Given the description of an element on the screen output the (x, y) to click on. 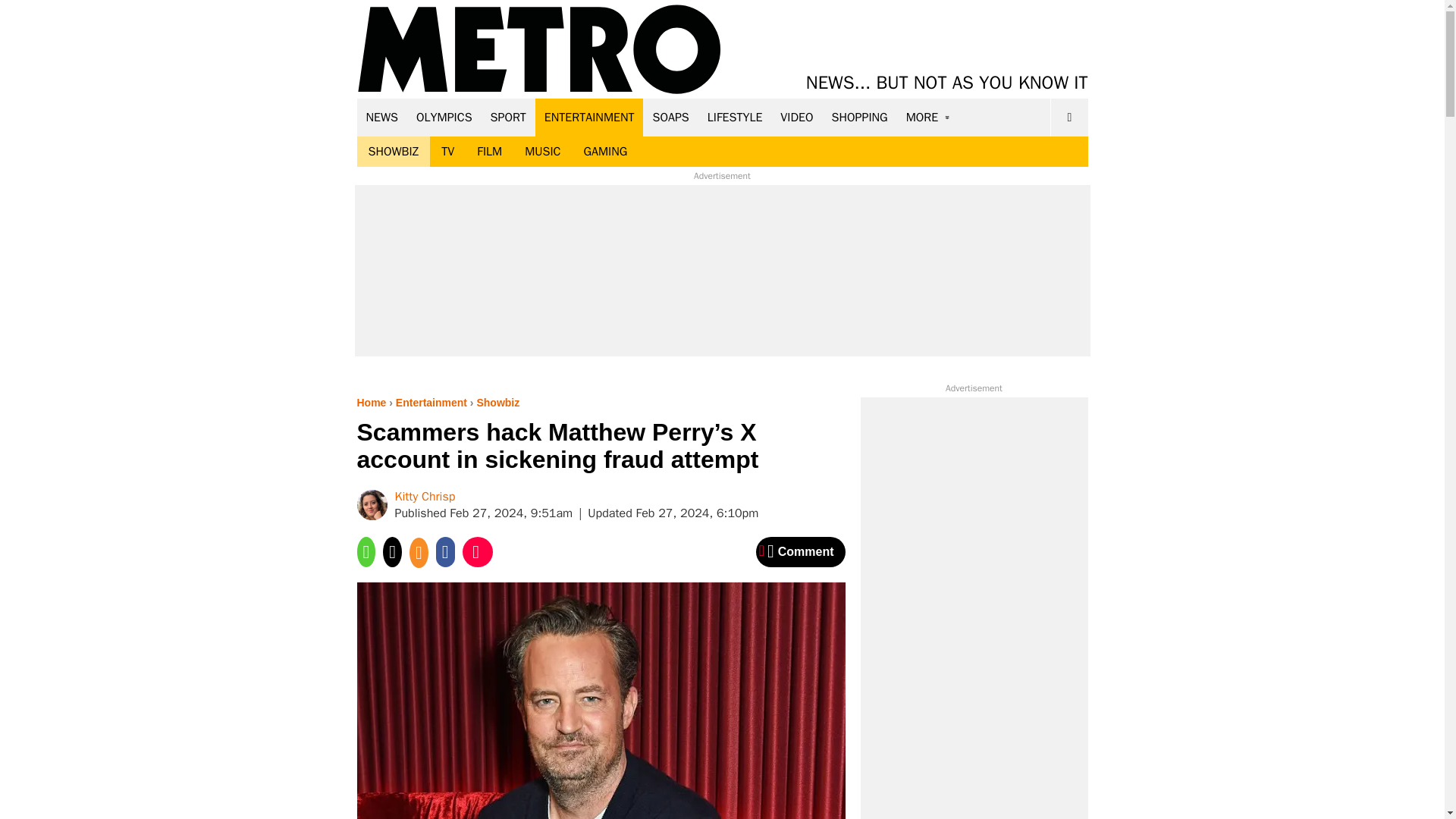
GAMING (605, 151)
SHOWBIZ (392, 151)
OLYMPICS (444, 117)
TV (447, 151)
ENTERTAINMENT (589, 117)
LIFESTYLE (734, 117)
Metro (539, 50)
FILM (489, 151)
NEWS (381, 117)
SOAPS (670, 117)
